Given the description of an element on the screen output the (x, y) to click on. 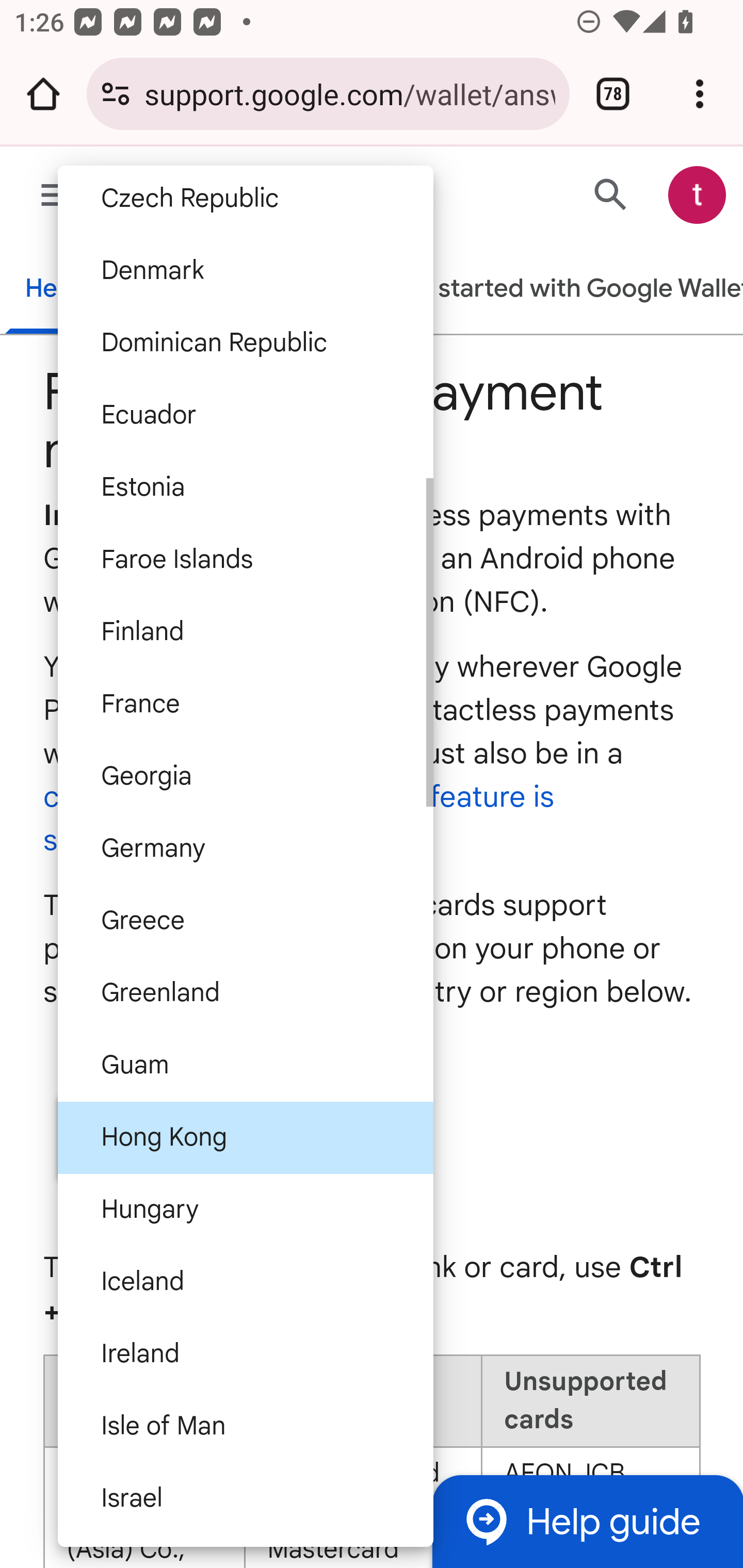
Open the home page (43, 93)
Connection is secure (115, 93)
Switch or close tabs (612, 93)
Customize and control Google Chrome (699, 93)
